Given the description of an element on the screen output the (x, y) to click on. 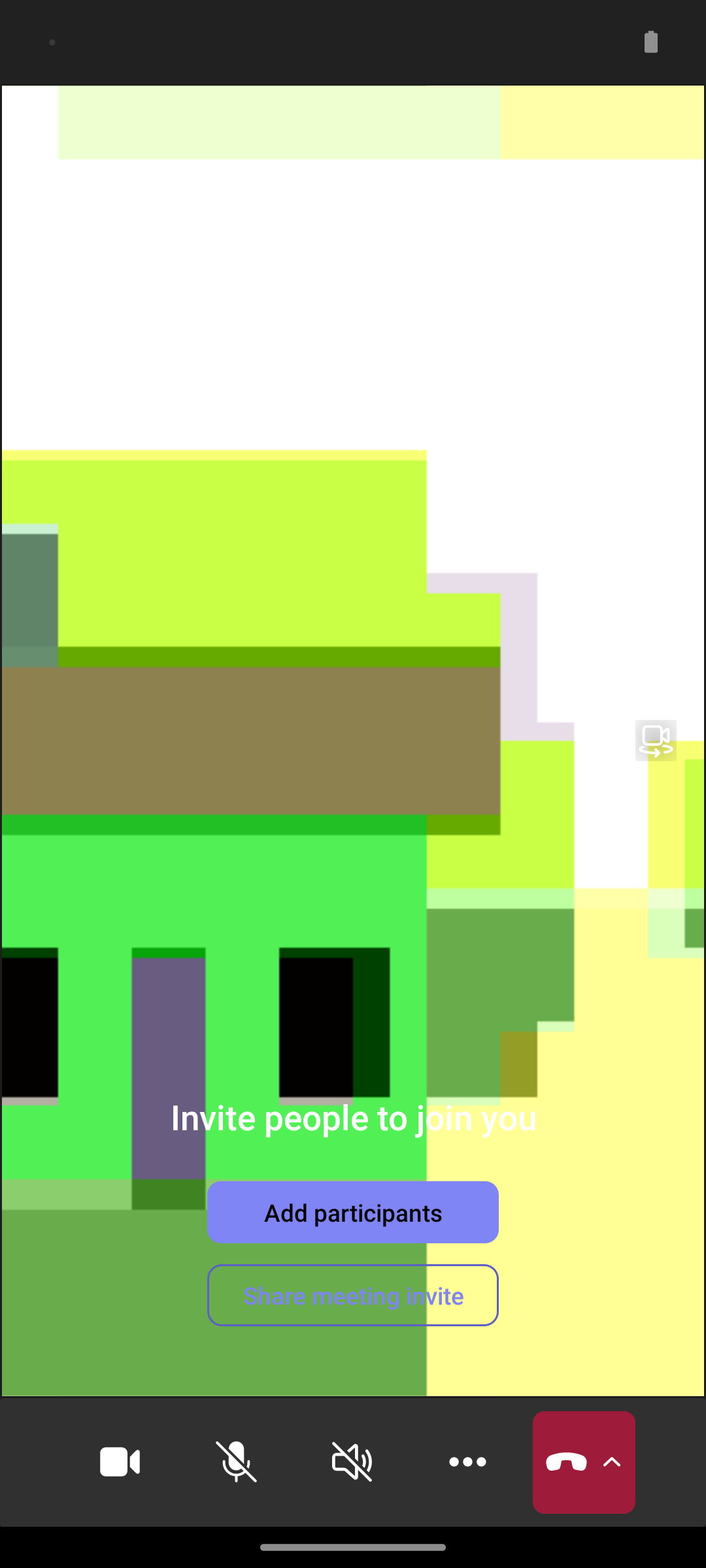
Rotate camera (655, 739)
Add participants (352, 1211)
Share meeting invite (352, 1294)
Turn off camera (120, 1462)
Unmute (236, 1462)
Audio (352, 1462)
More options (468, 1462)
Hang up (584, 1462)
